Given the description of an element on the screen output the (x, y) to click on. 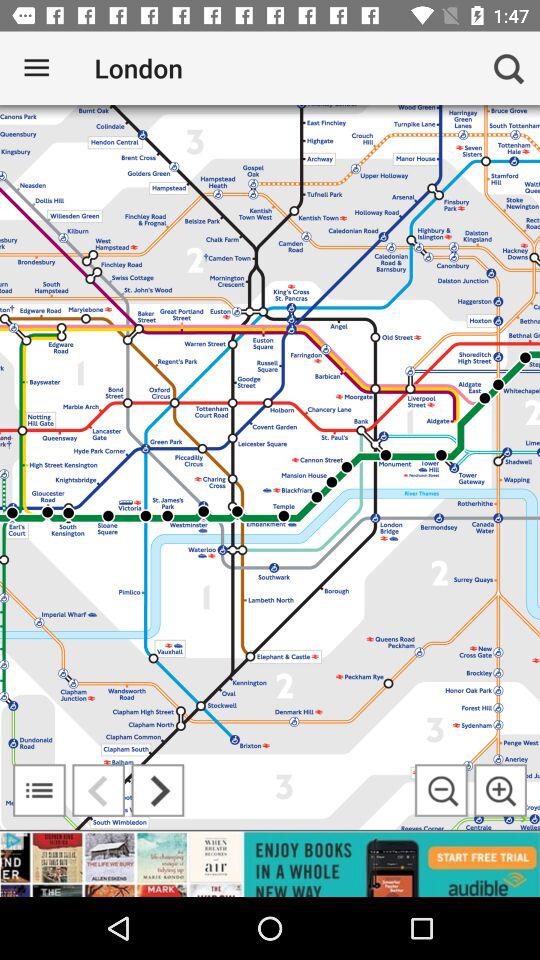
go to next (157, 790)
